Given the description of an element on the screen output the (x, y) to click on. 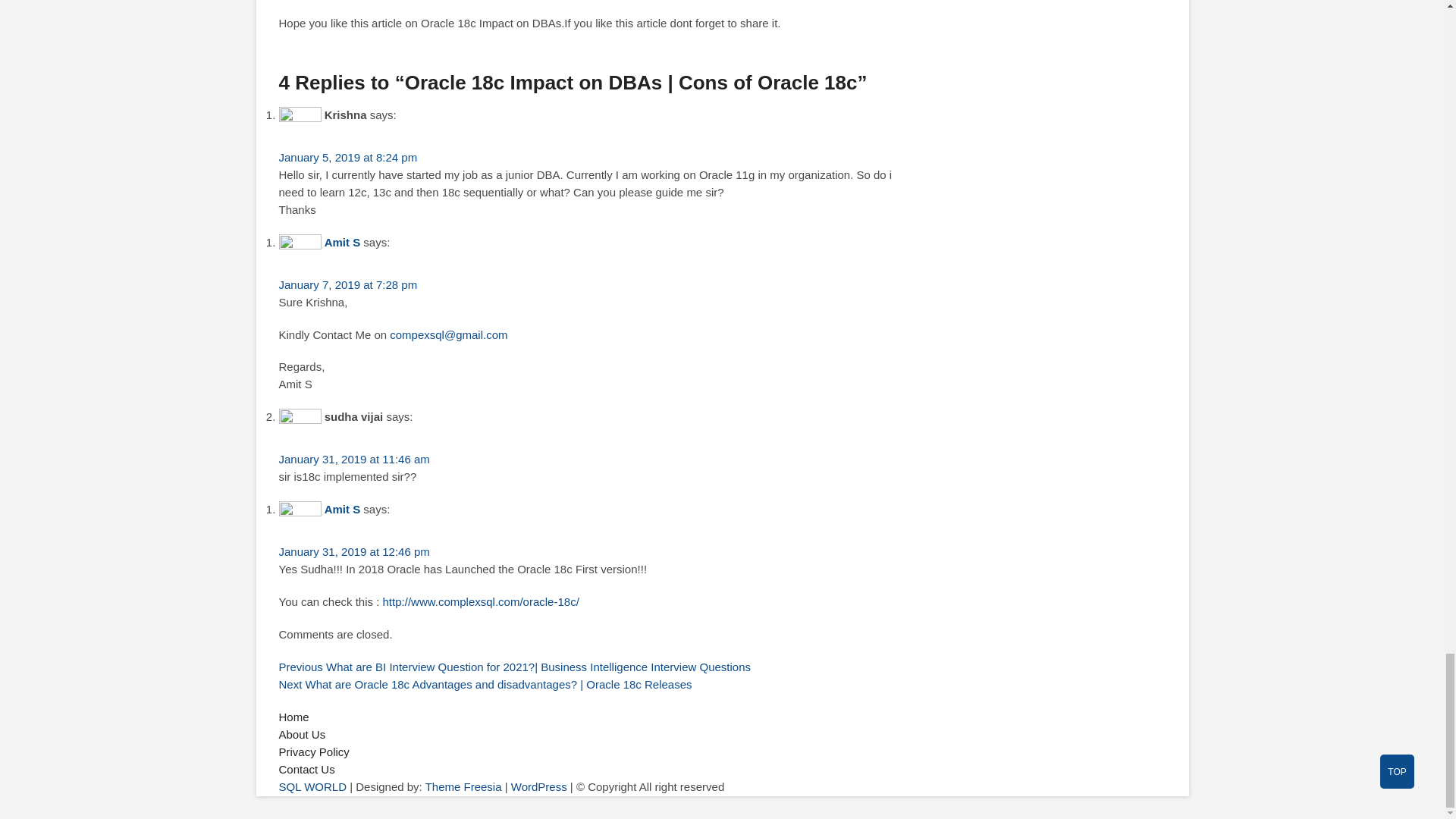
Amit S (342, 508)
WordPress (539, 786)
SQL WORLD (312, 786)
Theme Freesia (463, 786)
January 7, 2019 at 7:28 pm (348, 284)
January 5, 2019 at 8:24 pm (348, 156)
Amit S (342, 241)
January 31, 2019 at 12:46 pm (354, 551)
January 31, 2019 at 11:46 am (354, 459)
